Given the description of an element on the screen output the (x, y) to click on. 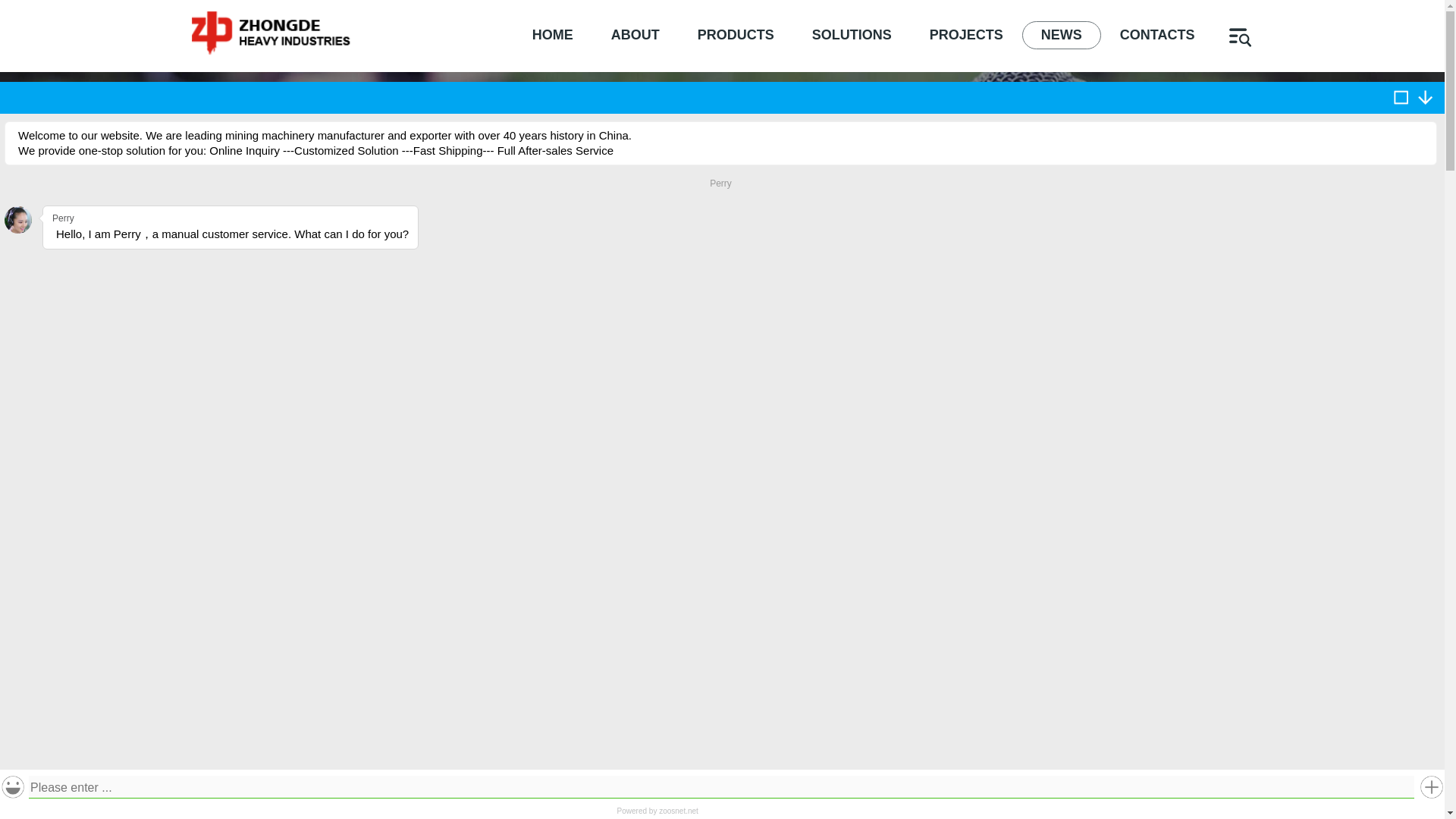
ABOUT (635, 35)
HOME (646, 164)
PRODUCTS (735, 35)
PROJECTS (966, 35)
HOME (552, 35)
CONTACTS (1157, 35)
NEWS (714, 164)
Leave Us Message (721, 310)
NEWS (1061, 35)
SOLUTIONS (852, 35)
